Given the description of an element on the screen output the (x, y) to click on. 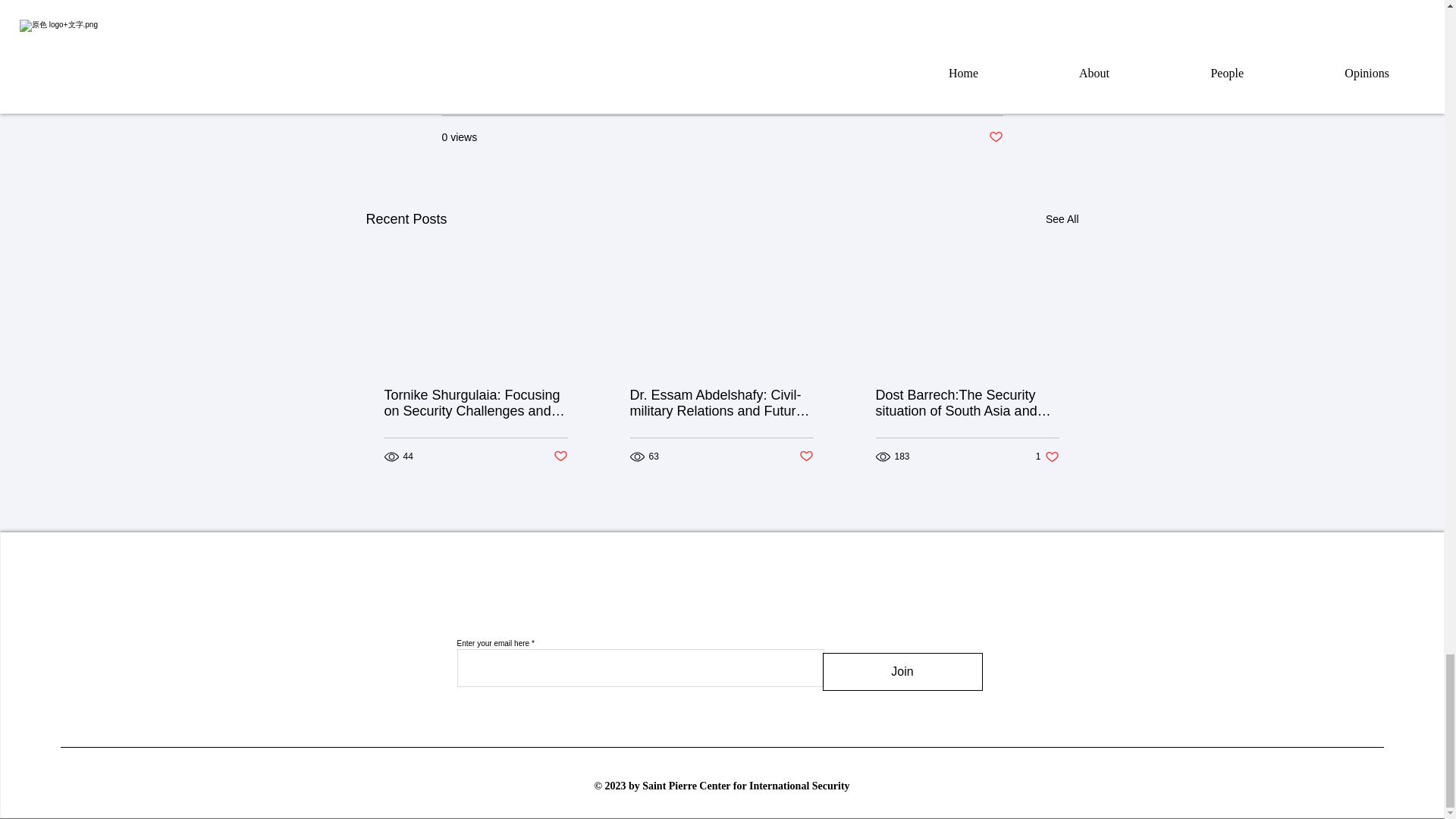
Post not marked as liked (995, 137)
Post not marked as liked (560, 456)
Join (1047, 456)
Post not marked as liked (901, 671)
See All (806, 456)
